Given the description of an element on the screen output the (x, y) to click on. 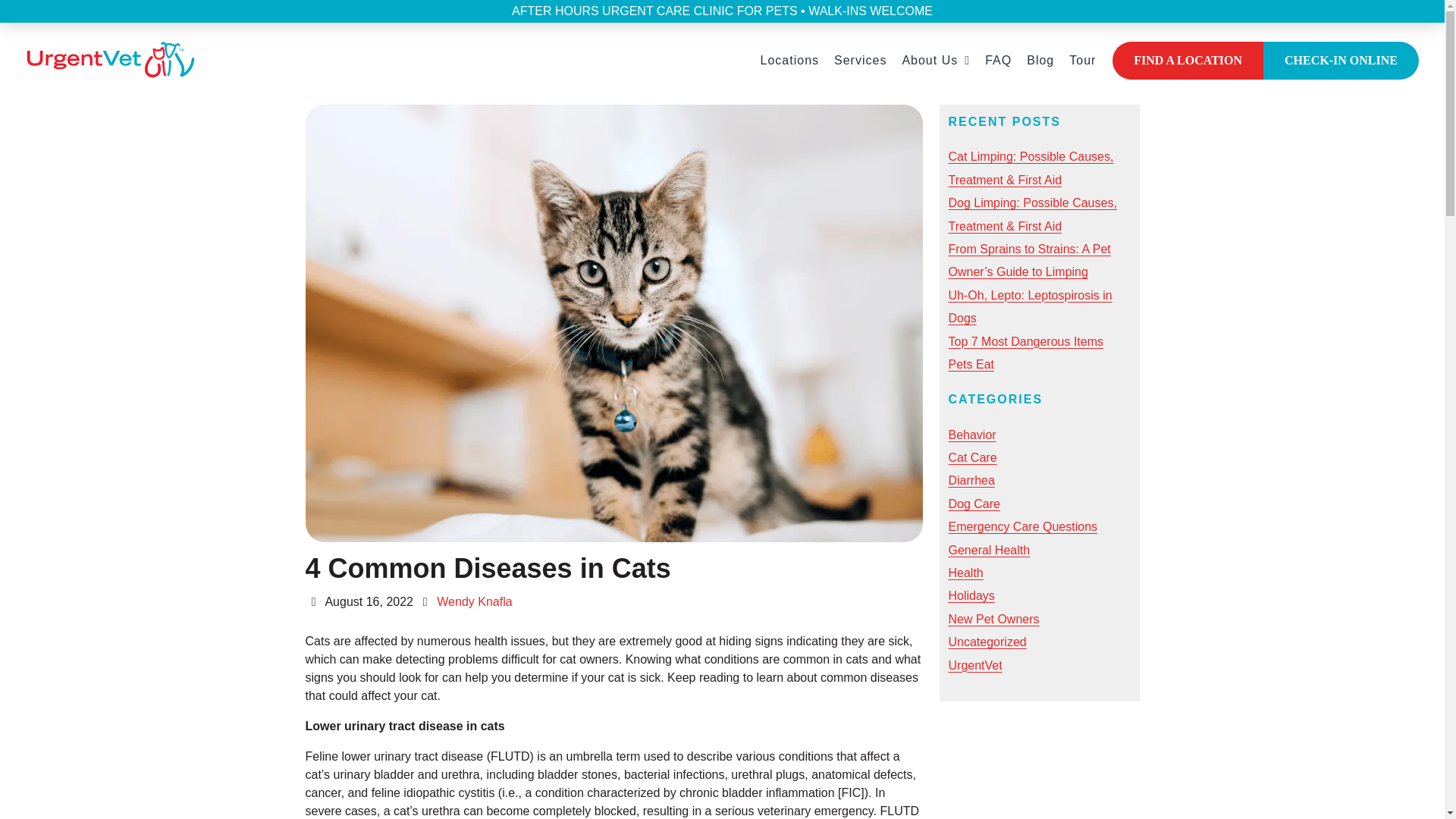
About Us (935, 60)
Wendy Knafla (474, 601)
Blog (1040, 60)
FIND A LOCATION (1187, 60)
FAQ (998, 60)
Locations (789, 60)
Uh-Oh, Lepto: Leptospirosis in Dogs (1029, 306)
Tour (1082, 60)
Services (860, 60)
CHECK-IN ONLINE (1340, 60)
